Given the description of an element on the screen output the (x, y) to click on. 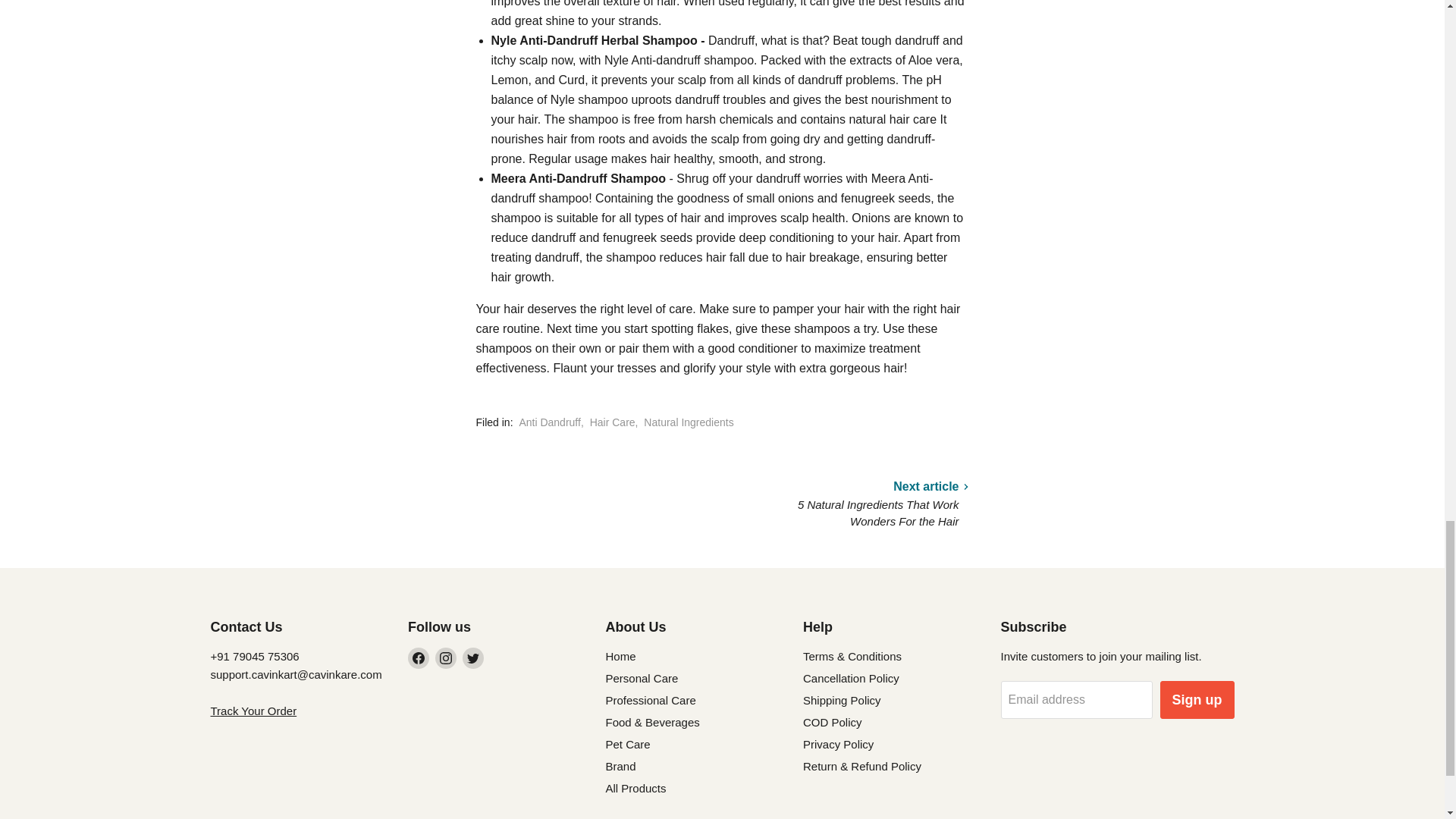
Instagram (446, 658)
Show articles tagged Hair Care (611, 422)
Twitter (473, 658)
Show articles tagged Anti Dandruff (548, 422)
Facebook (418, 658)
Show articles tagged Natural Ingredients (688, 422)
